Given the description of an element on the screen output the (x, y) to click on. 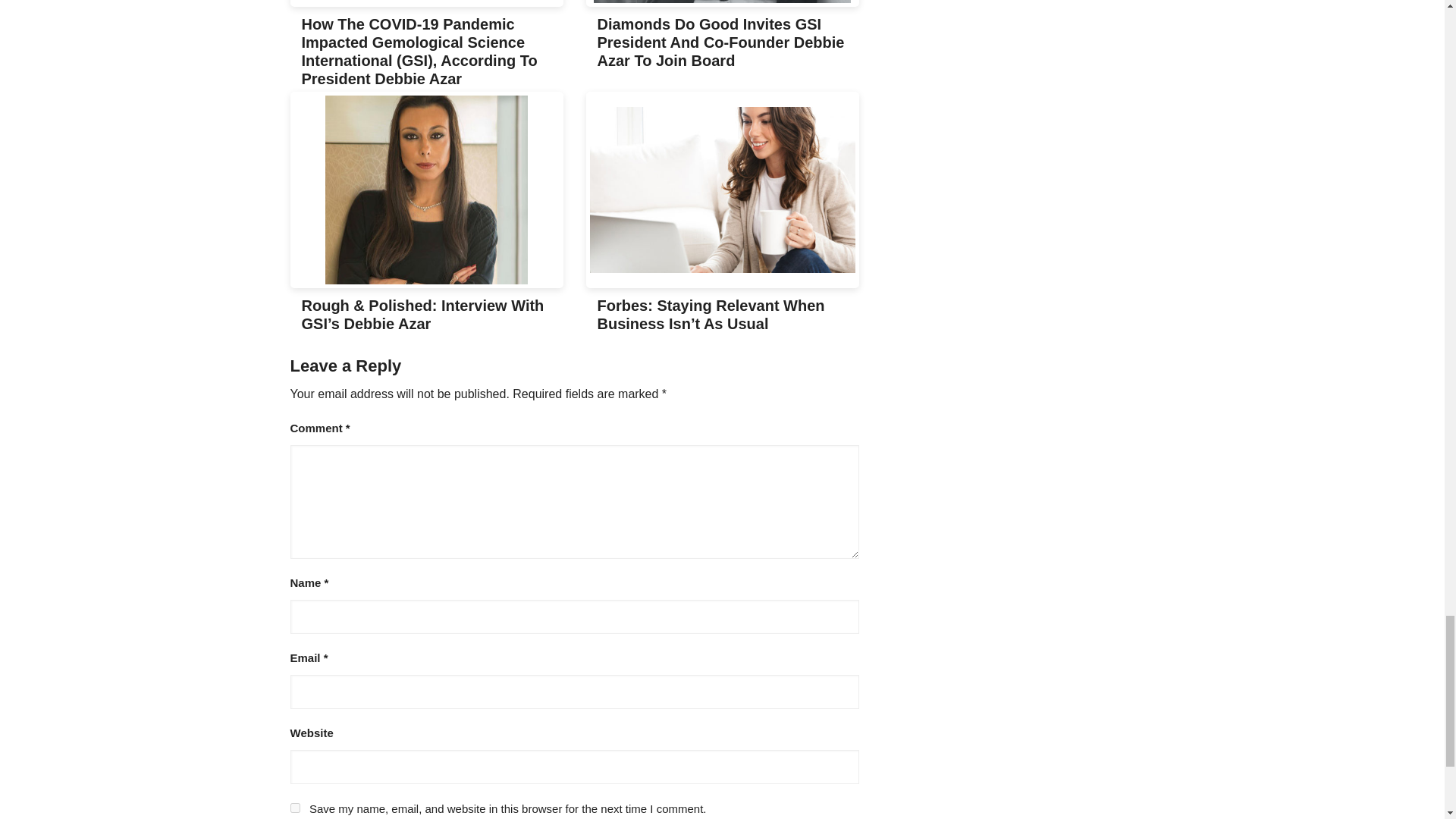
yes (294, 808)
